Given the description of an element on the screen output the (x, y) to click on. 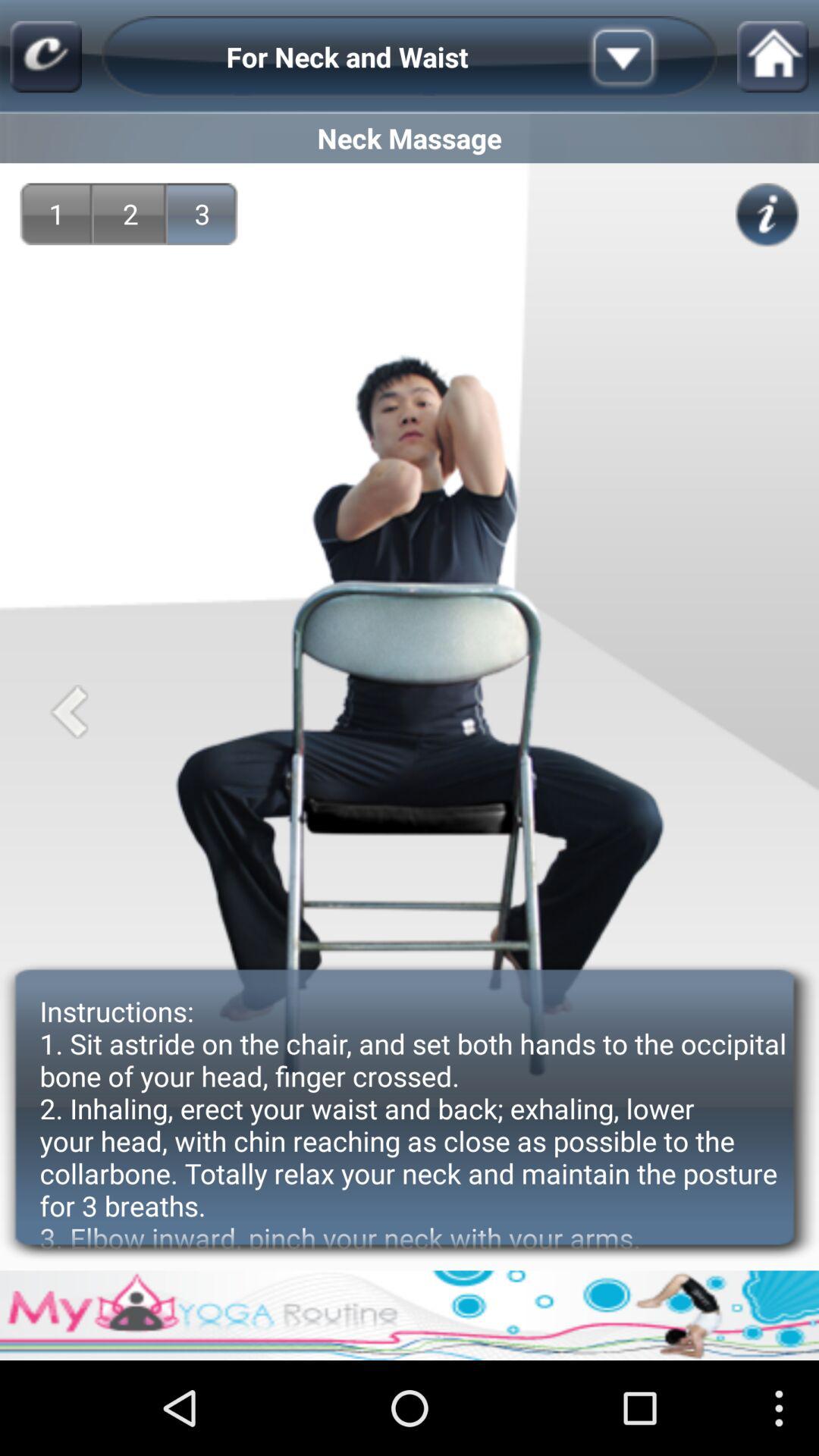
select item above neck massage (772, 56)
